Given the description of an element on the screen output the (x, y) to click on. 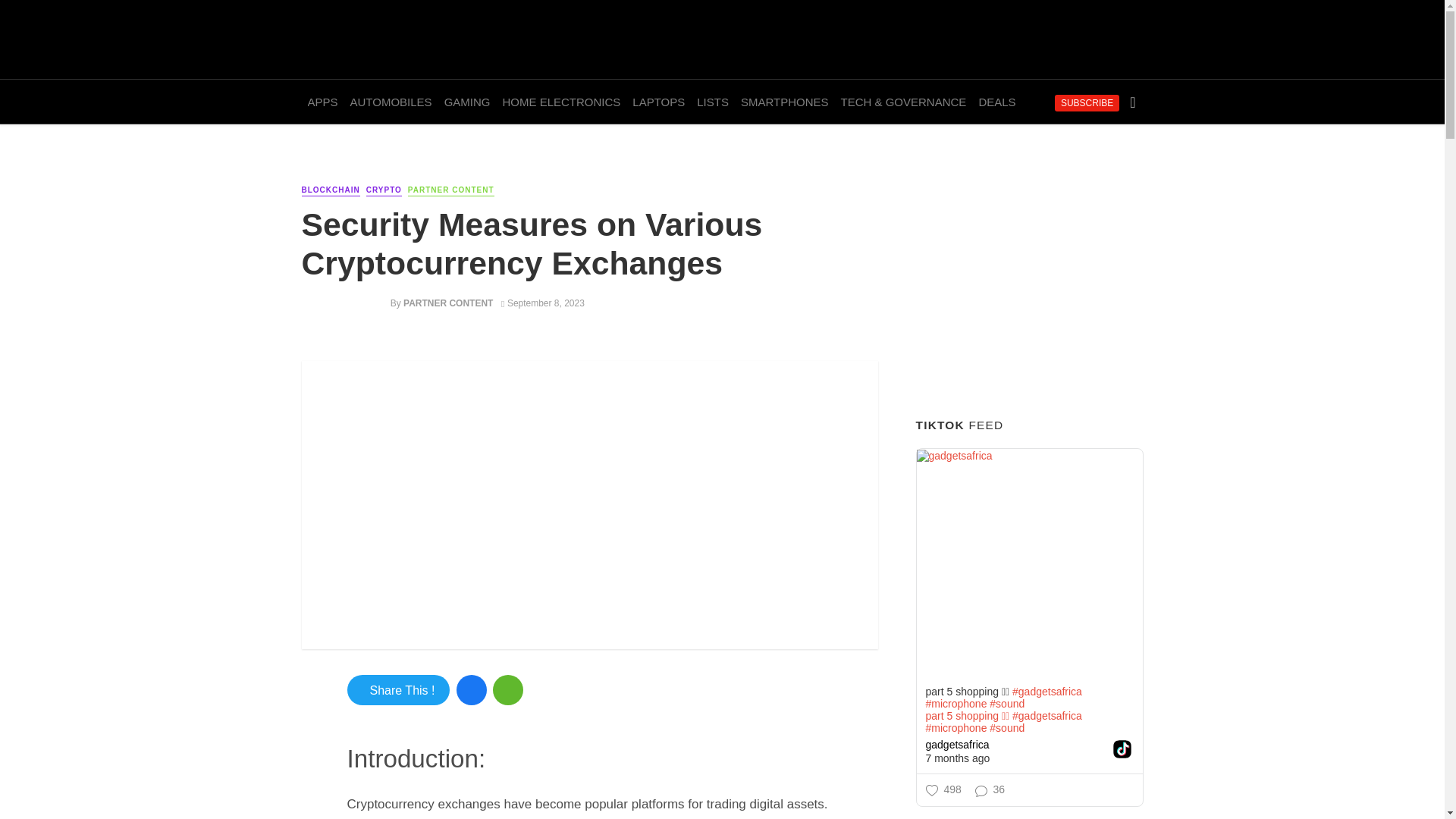
PARTNER CONTENT (448, 303)
Share This ! (398, 689)
BLOCKCHAIN (330, 190)
LISTS (712, 102)
Share this on Facebook (471, 689)
CRYPTO (383, 190)
SUBSCRIBE (1086, 103)
PARTNER CONTENT (451, 190)
Posts by Partner Content (448, 303)
Tweet this ! (398, 689)
AUTOMOBILES (390, 102)
September 8, 2023 at 3:57 pm (542, 303)
LAPTOPS (658, 102)
SMARTPHONES (784, 102)
GAMING (467, 102)
